Given the description of an element on the screen output the (x, y) to click on. 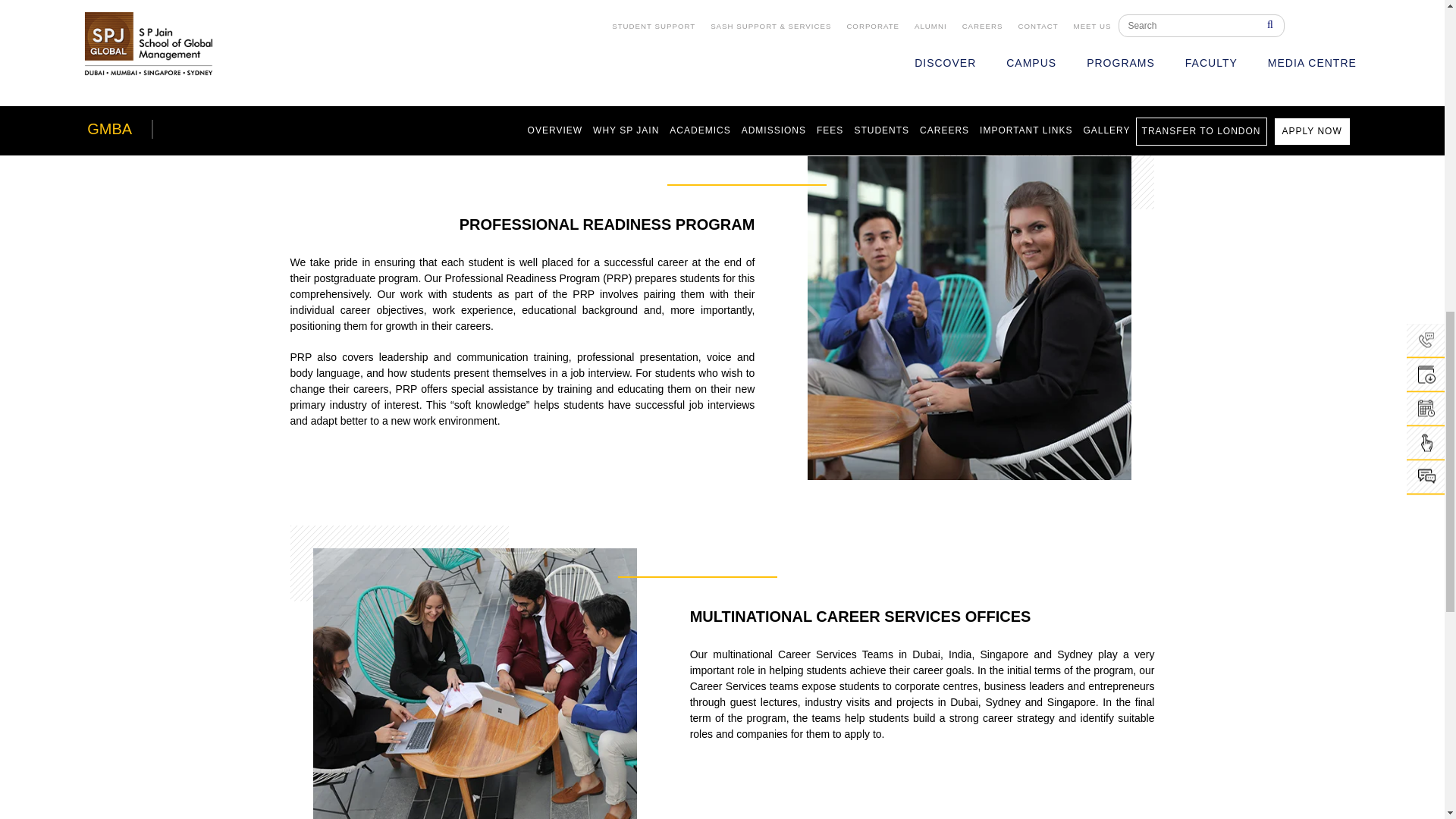
sp-jain-gmba-passport-2-excellence (981, 306)
Career Services (389, 25)
multinational-career-services-offices (463, 672)
